Given the description of an element on the screen output the (x, y) to click on. 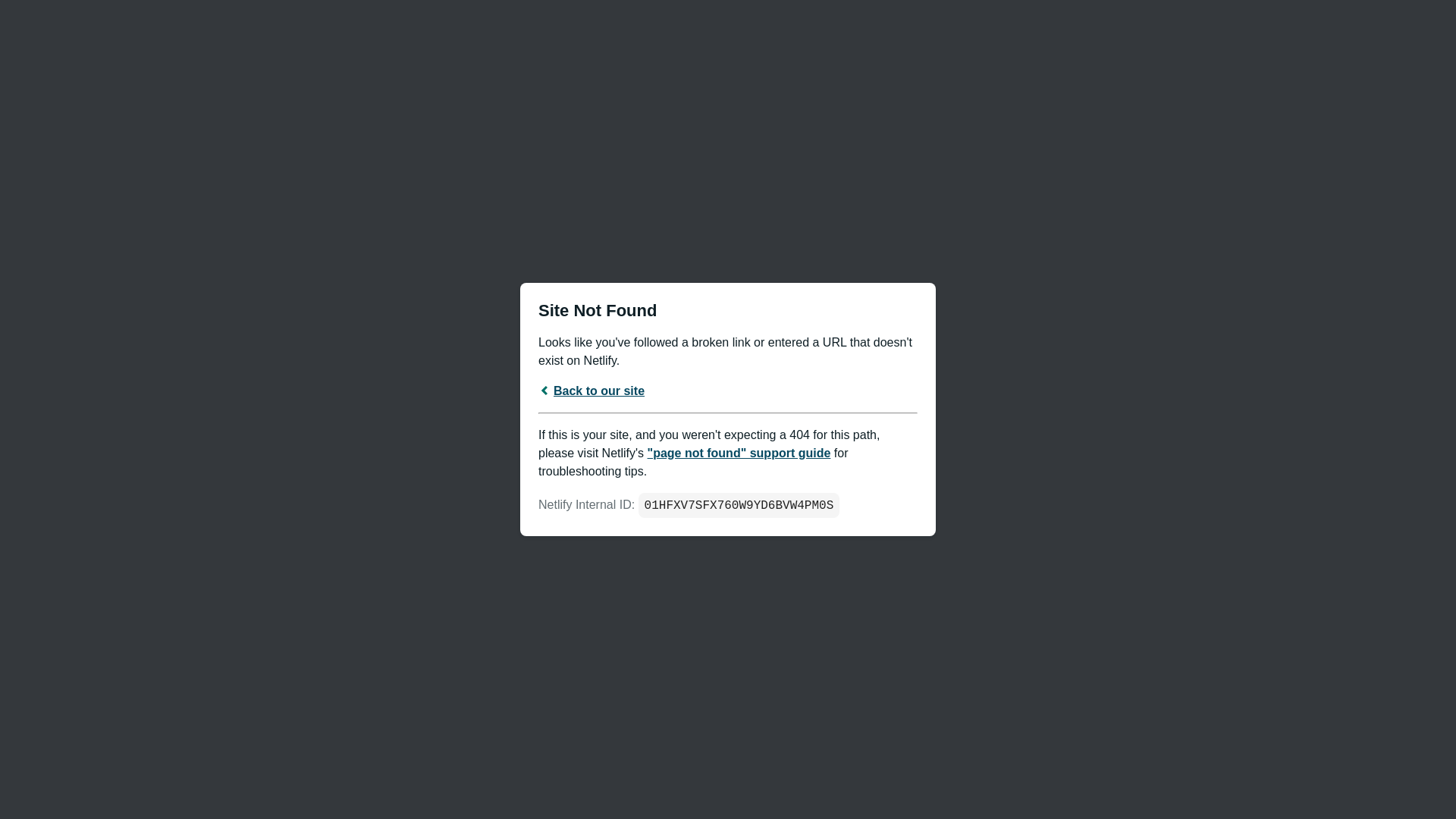
"page not found" support guide Element type: text (739, 452)
Back to our site Element type: text (591, 390)
